Given the description of an element on the screen output the (x, y) to click on. 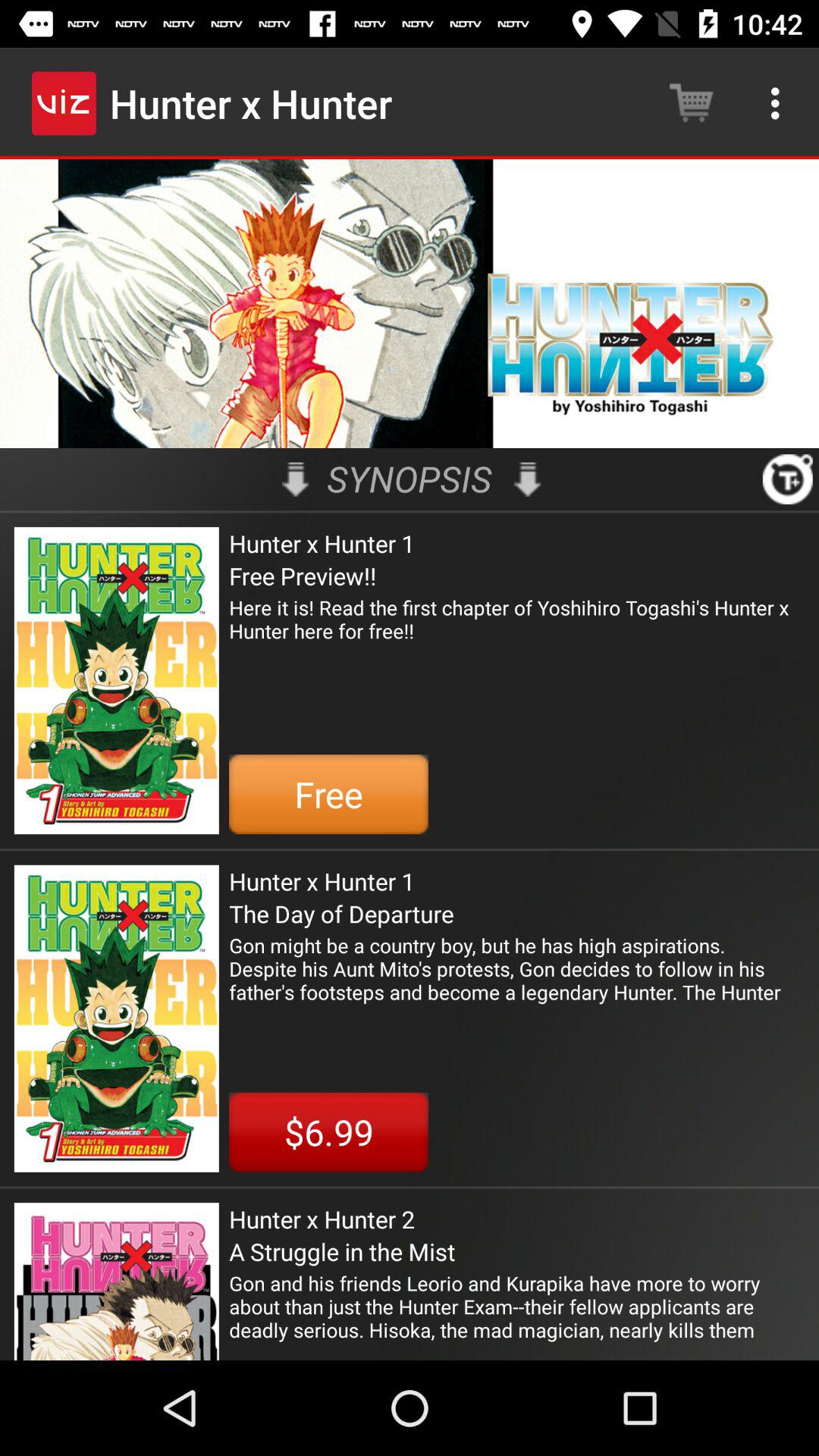
turn off the icon next to the synopsis item (295, 479)
